Given the description of an element on the screen output the (x, y) to click on. 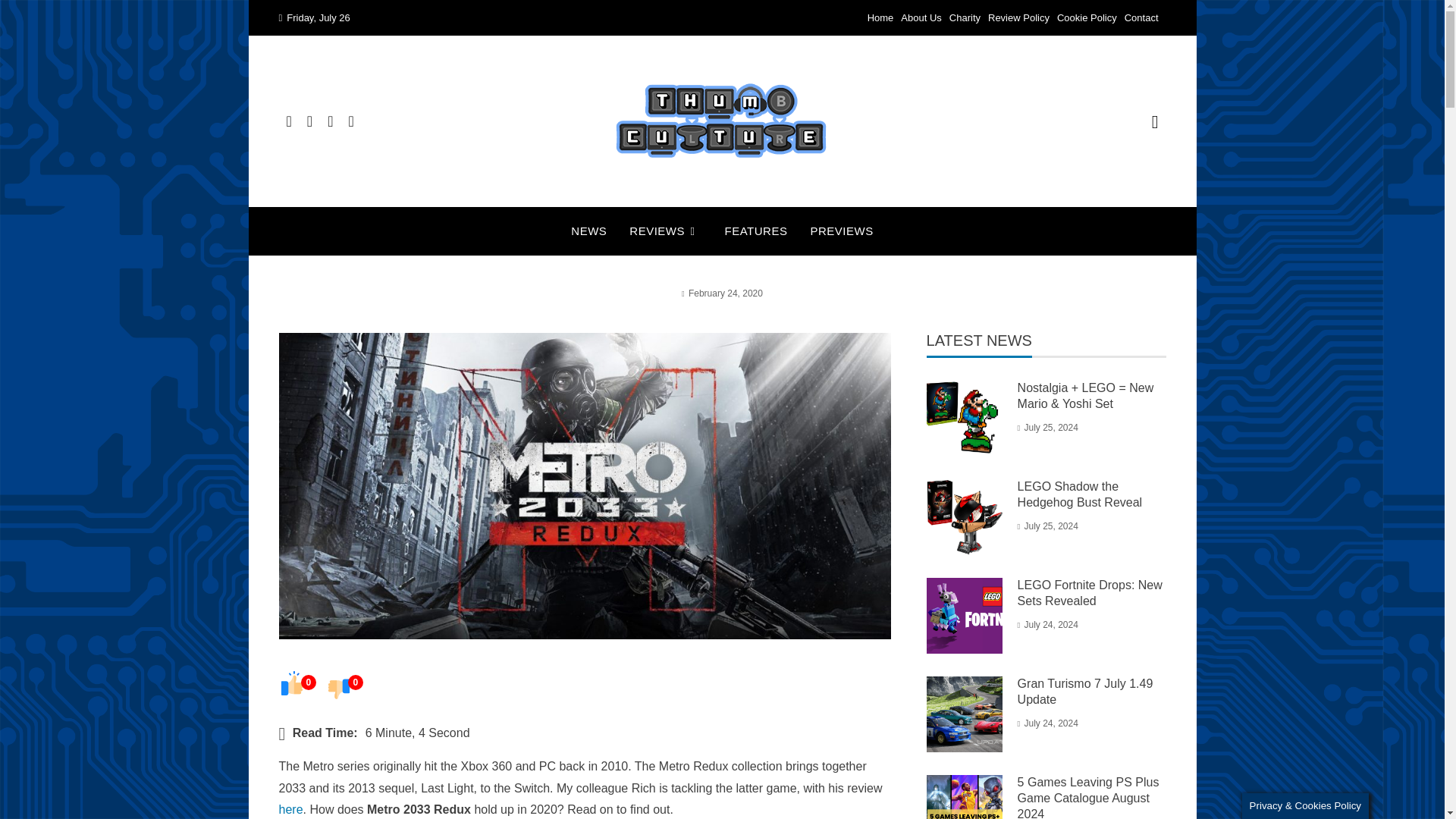
Cookie Policy (1086, 17)
REVIEWS (664, 231)
PREVIEWS (840, 231)
Contact (1141, 17)
Review Policy (1018, 17)
Charity (964, 17)
here (290, 809)
NEWS (588, 231)
About Us (920, 17)
Home (880, 17)
FEATURES (756, 231)
